Given the description of an element on the screen output the (x, y) to click on. 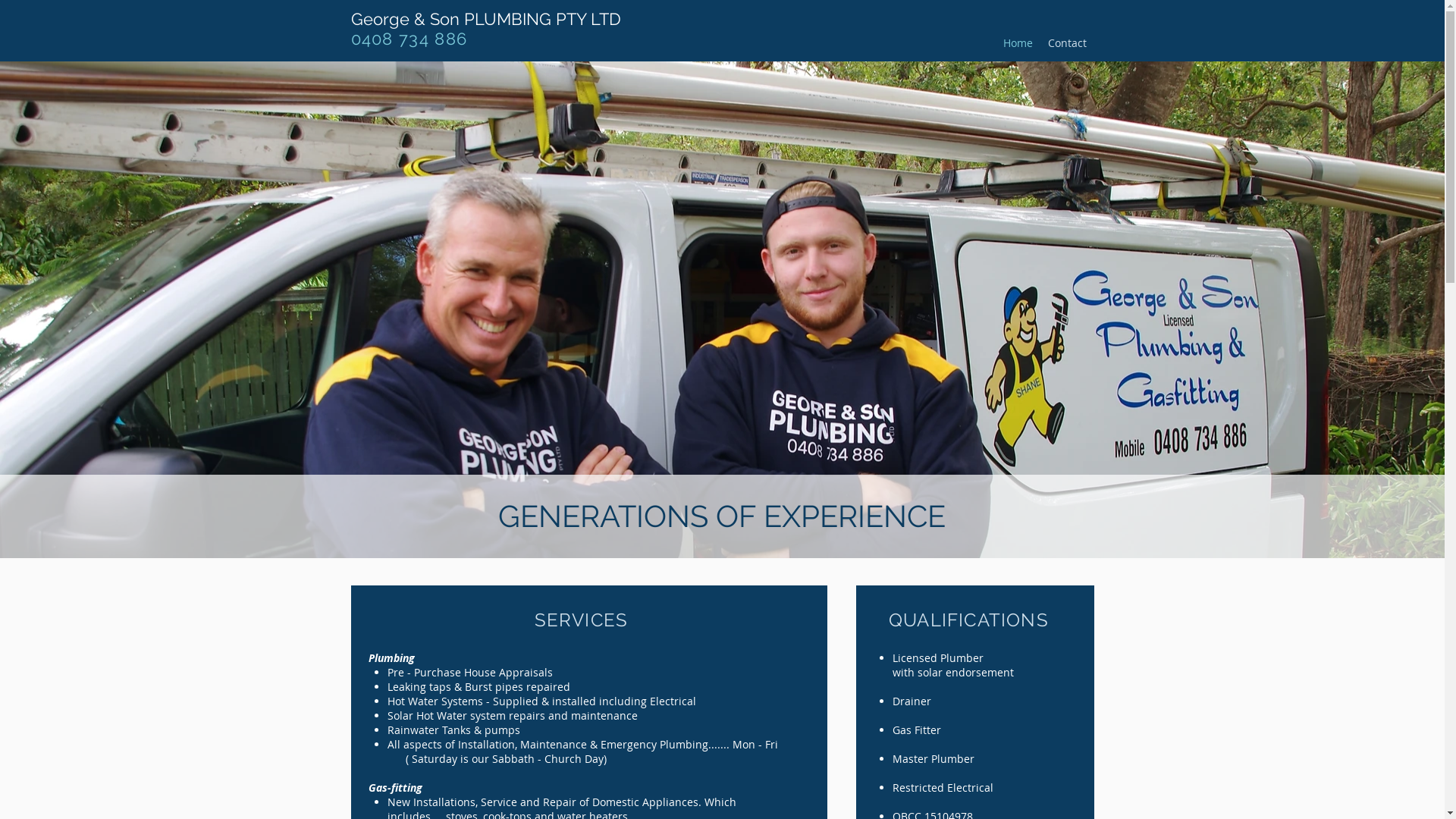
Contact Element type: text (1067, 42)
George & Son PLUMBING PTY LTD Element type: text (485, 18)
Home Element type: text (1016, 42)
